Given the description of an element on the screen output the (x, y) to click on. 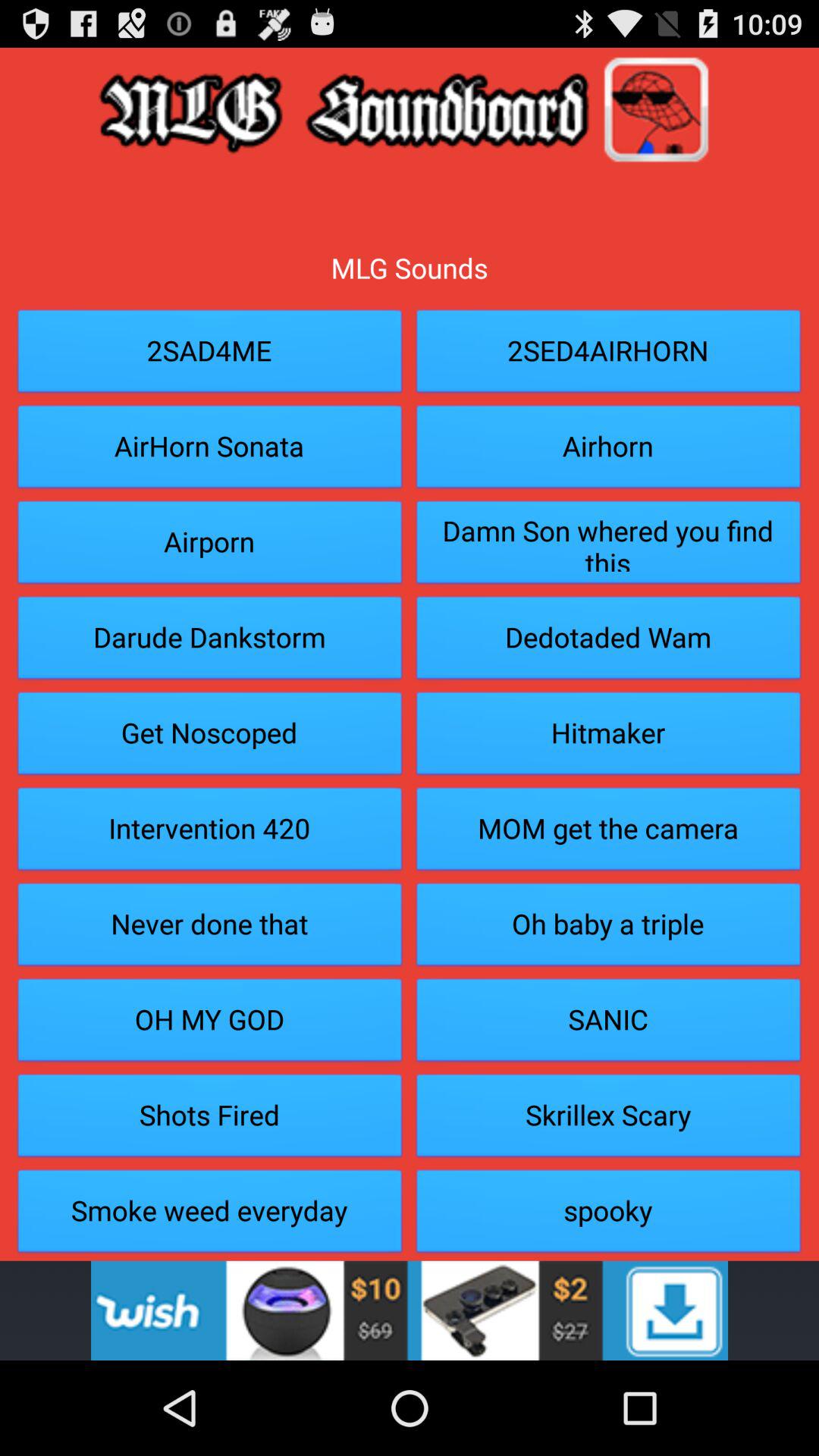
advertisement (409, 1310)
